Given the description of an element on the screen output the (x, y) to click on. 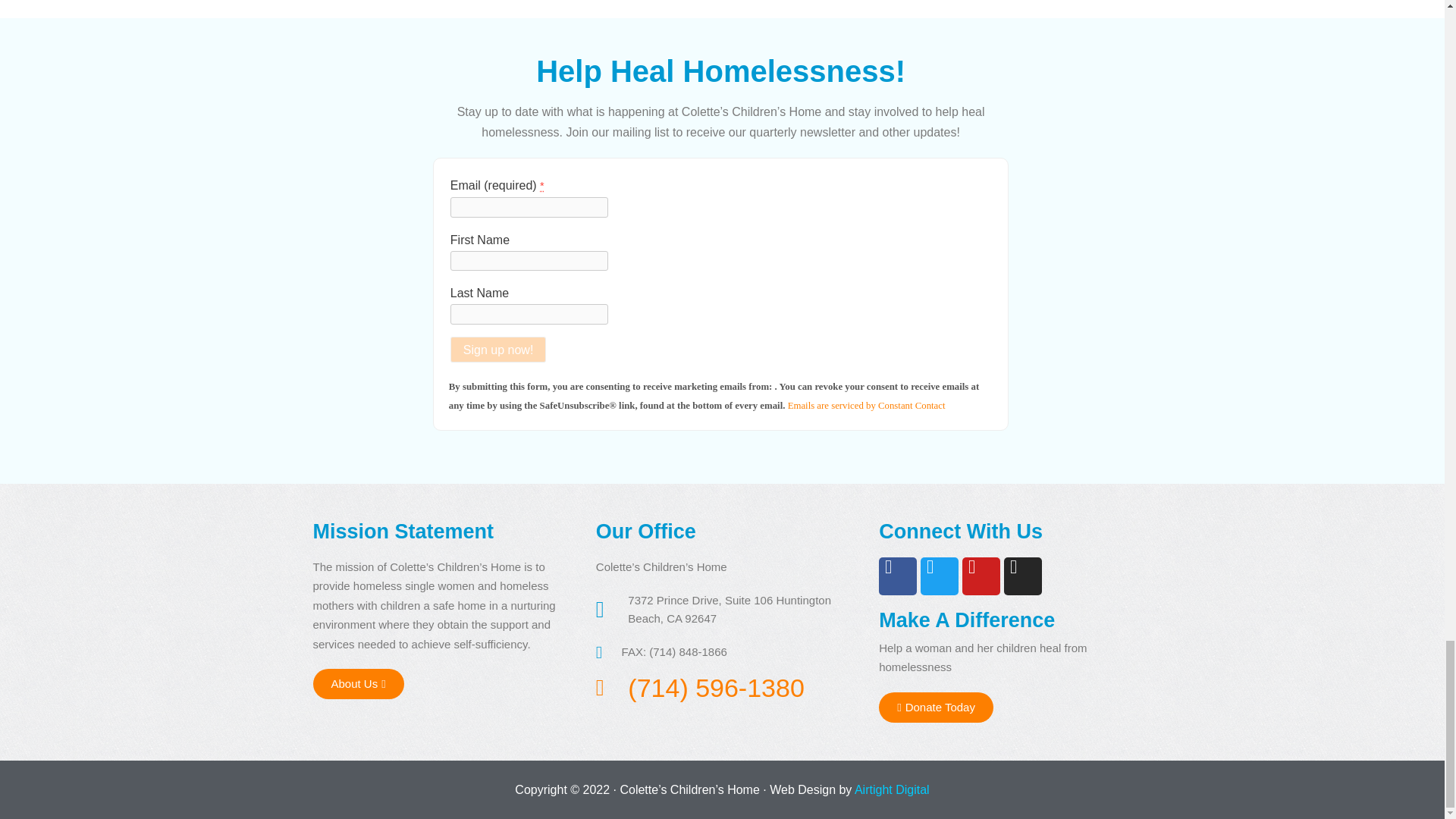
Sign up now! (498, 349)
